Given the description of an element on the screen output the (x, y) to click on. 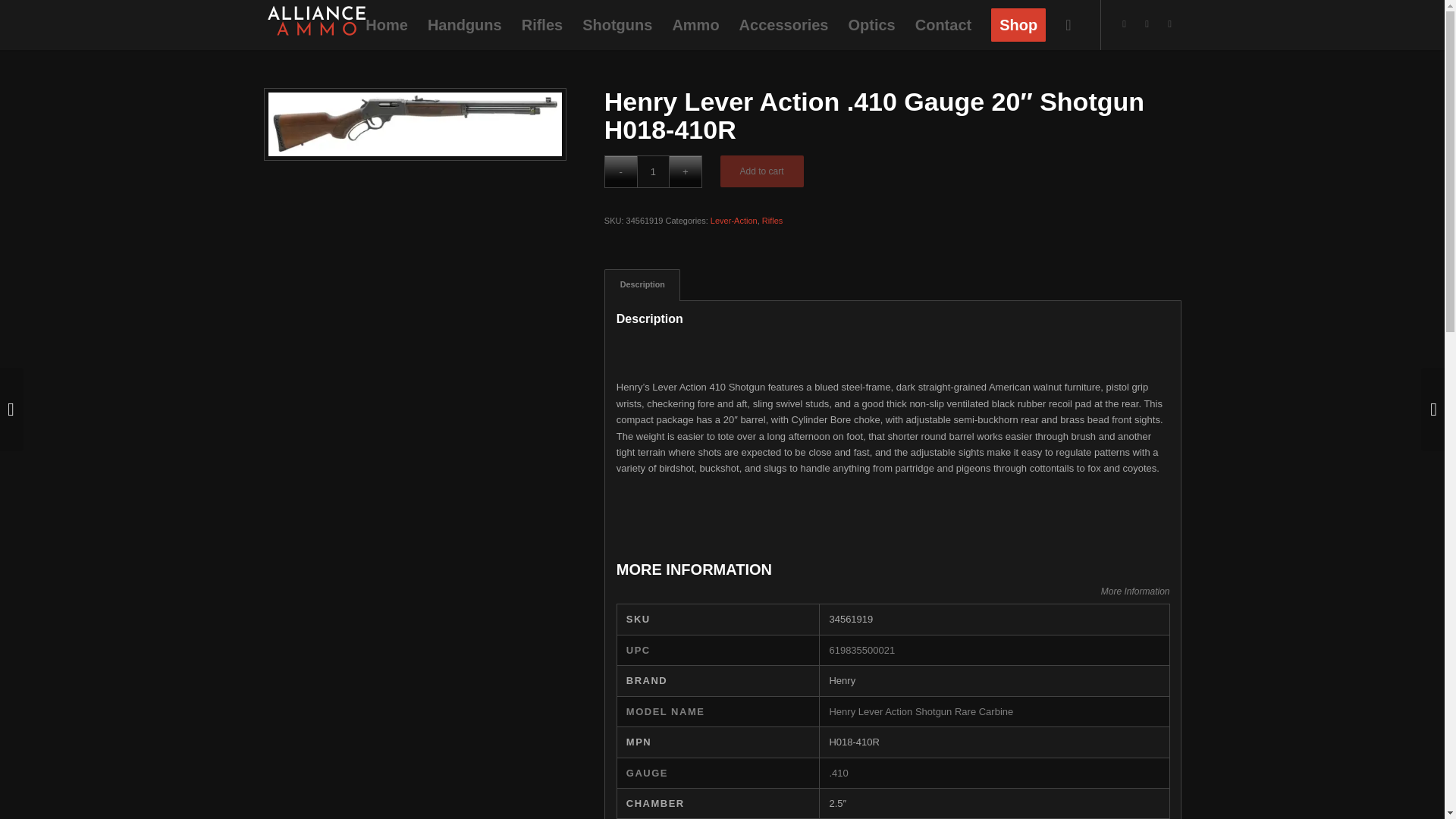
Ammo (695, 24)
Twitter (1124, 24)
Shop (1018, 24)
Add to cart (761, 171)
Lever-Action (733, 220)
Facebook (1146, 24)
Description (641, 284)
Contact (943, 24)
Rifles (772, 220)
Accessories (783, 24)
Rifles (542, 24)
alliance ammo logo (316, 20)
Shotguns (617, 24)
Optics (871, 24)
Soundcloud (1169, 24)
